Given the description of an element on the screen output the (x, y) to click on. 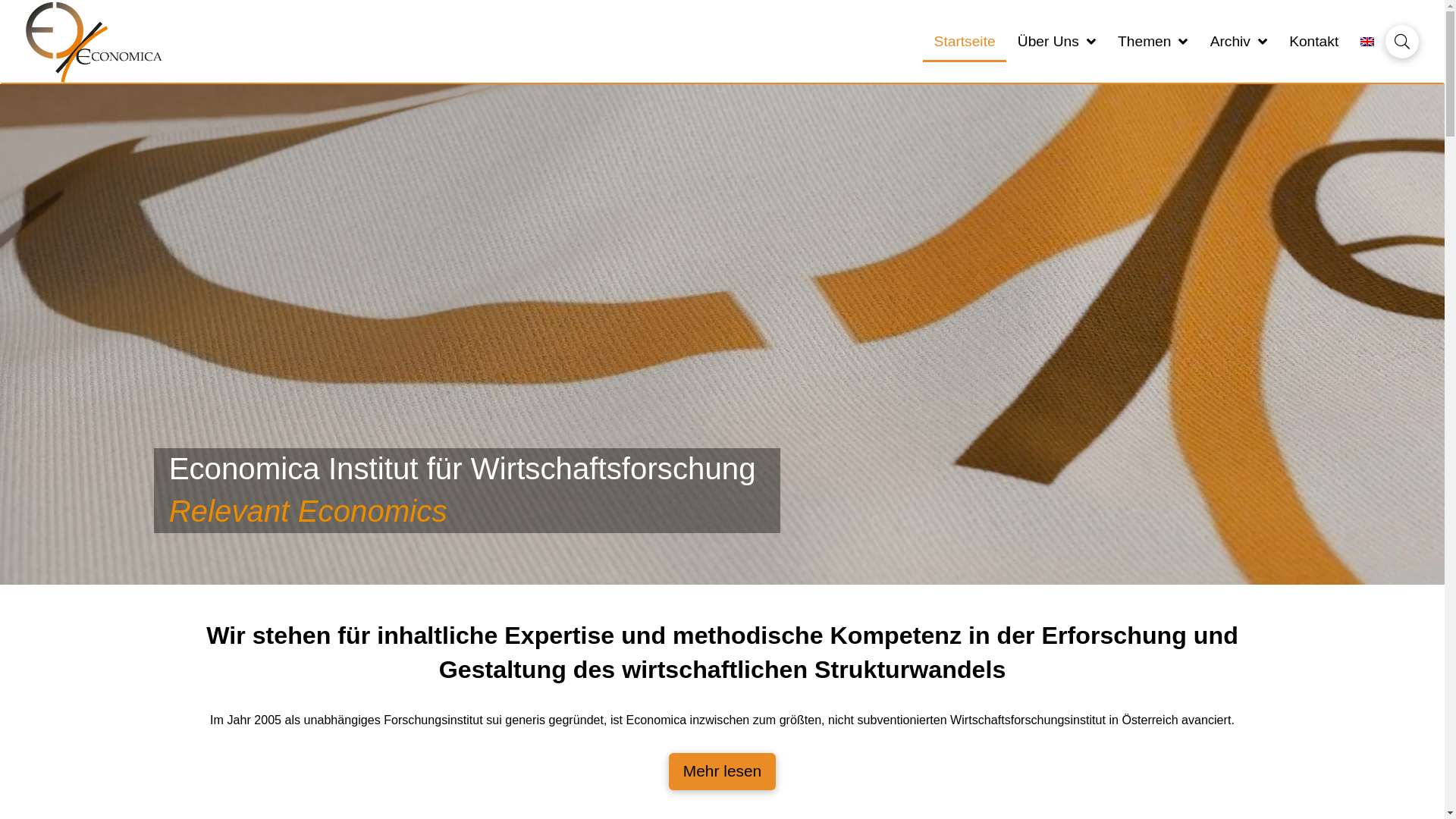
Archiv Element type: text (1238, 41)
Themen Element type: text (1152, 41)
Startseite Element type: text (964, 41)
Kontakt Element type: text (1313, 41)
Mehr lesen Element type: text (721, 771)
